Given the description of an element on the screen output the (x, y) to click on. 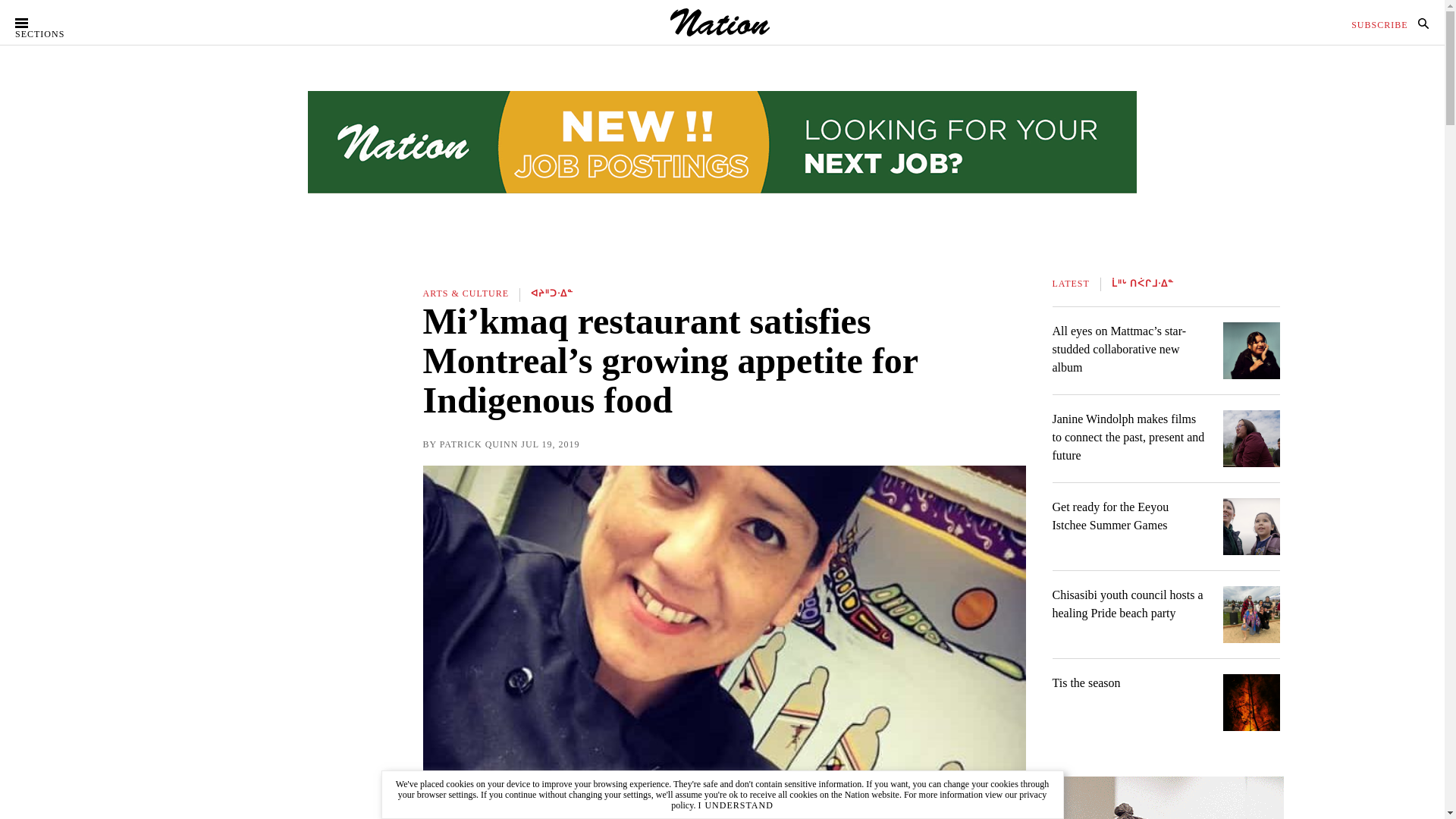
Open menu (47, 23)
Close cookie notification (735, 805)
SUBSCRIBE (1379, 24)
SECTIONS (47, 23)
